Given the description of an element on the screen output the (x, y) to click on. 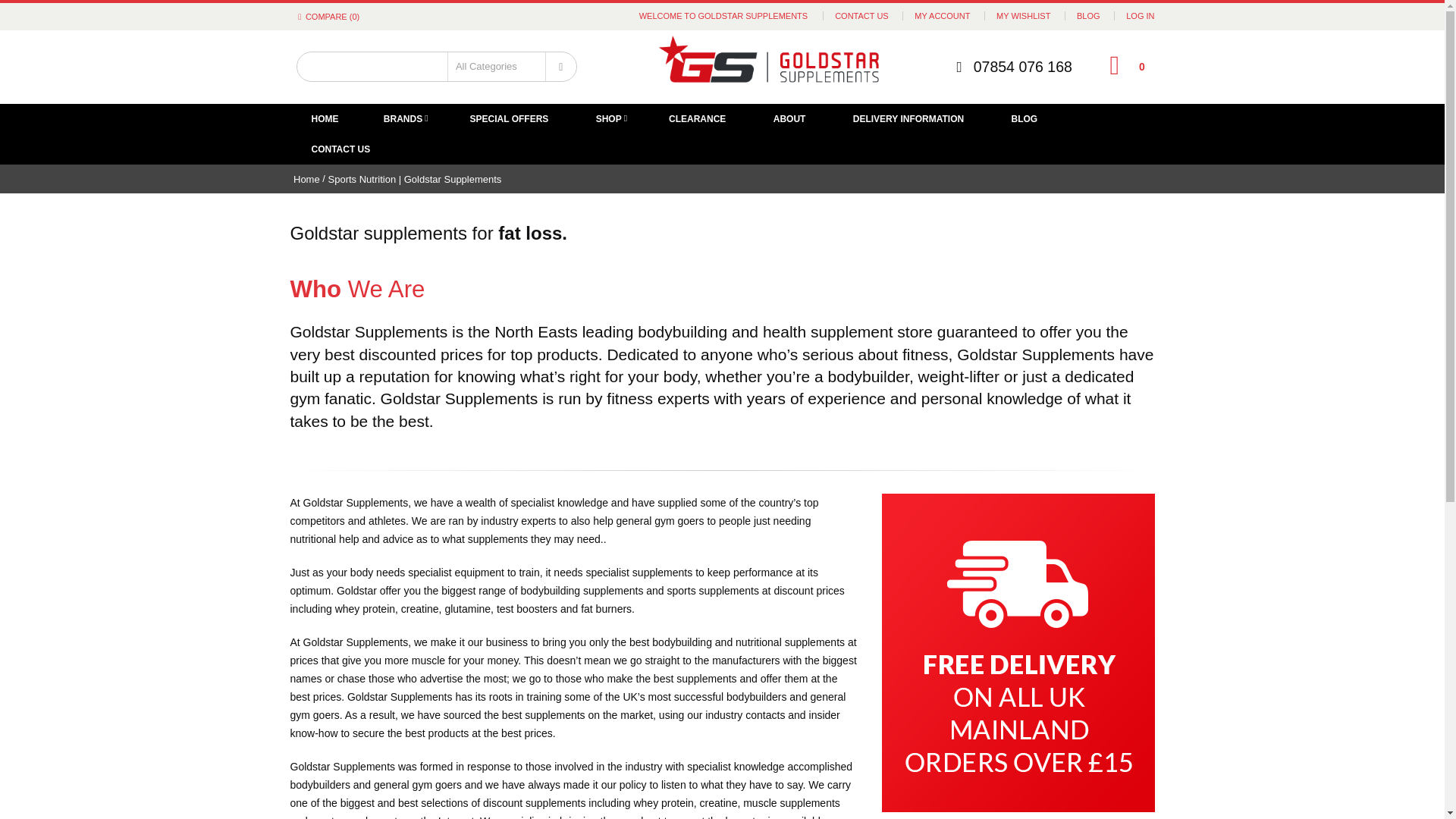
MY ACCOUNT (941, 15)
About Us (861, 15)
0 (1114, 64)
LOG IN (1139, 15)
MY WISHLIST (1022, 15)
CONTACT US (861, 15)
BRANDS (403, 119)
BLOG (1088, 15)
SPECIAL OFFERS (509, 119)
My Wishlist (1022, 15)
07854 076 168 (1022, 66)
My Account (941, 15)
SHOP (609, 119)
Goldstar Suppliments (768, 66)
HOME (324, 119)
